Given the description of an element on the screen output the (x, y) to click on. 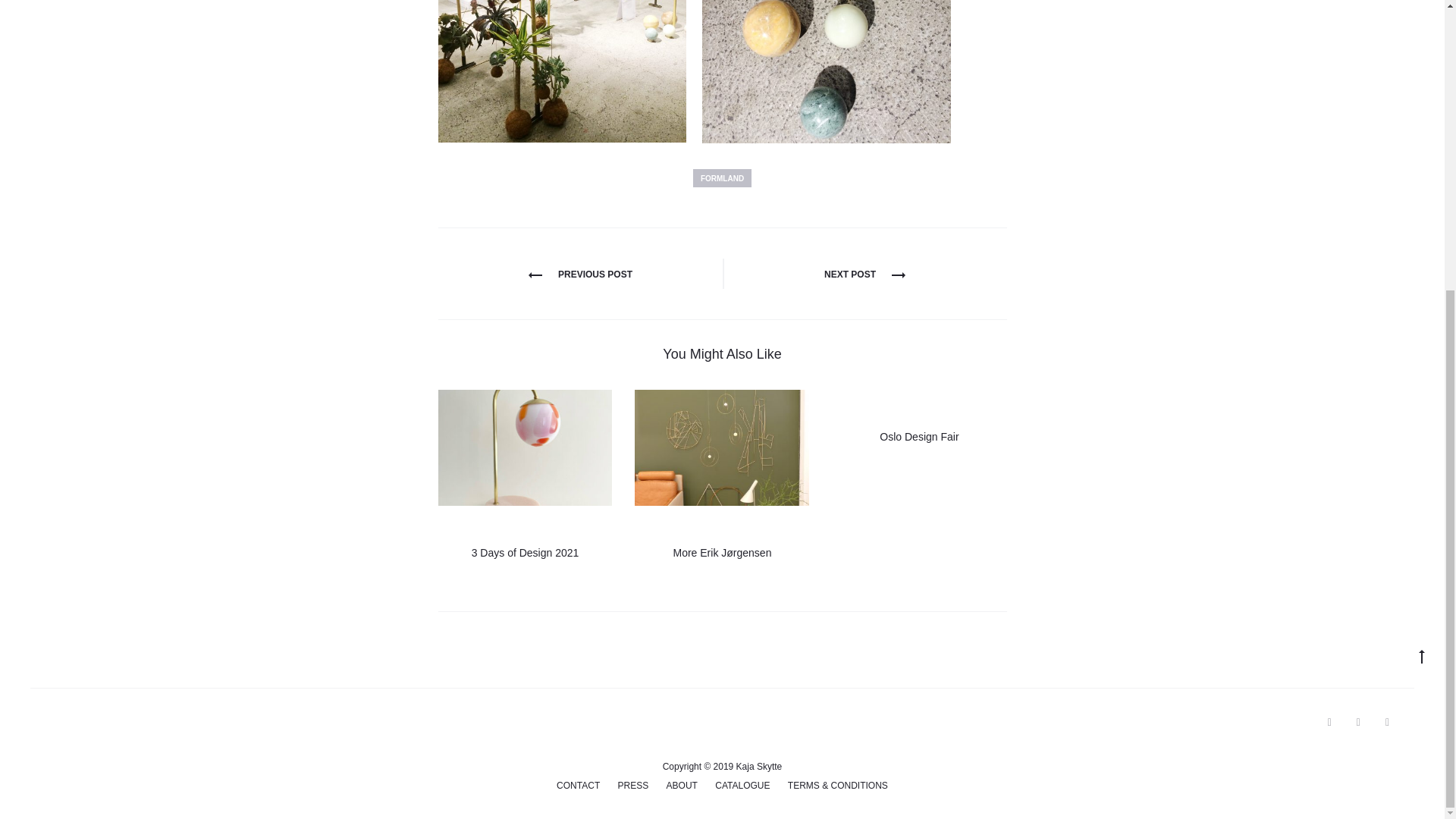
ABOUT (681, 785)
Oslo Design Fair (918, 436)
CONTACT (577, 785)
3 Days of Design 2021 (525, 552)
NEXT POST (864, 274)
PRESS (633, 785)
FORMLAND (722, 177)
PREVIOUS POST (579, 274)
CATALOGUE (742, 785)
